Given the description of an element on the screen output the (x, y) to click on. 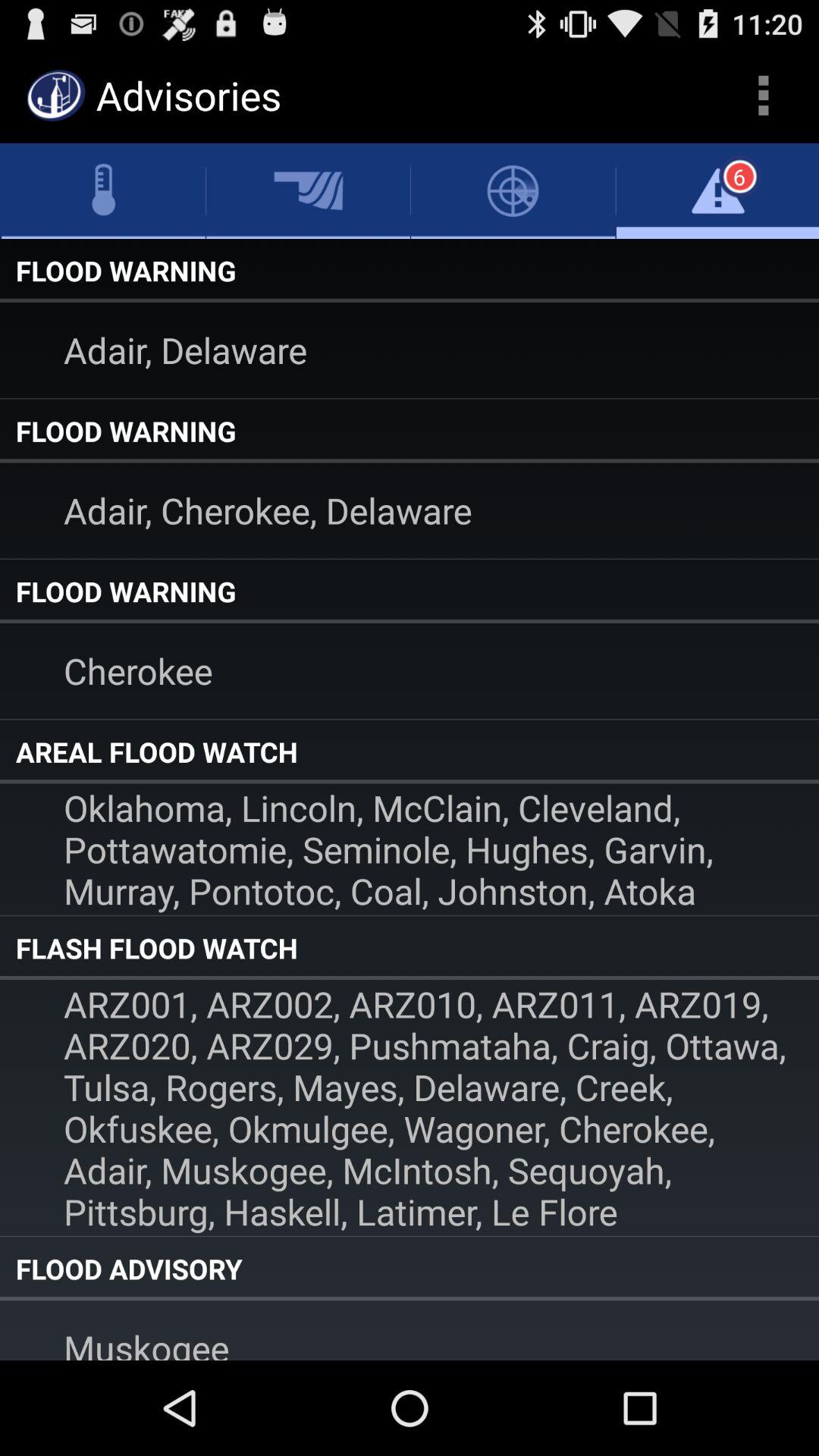
flip to areal flood watch item (409, 751)
